Given the description of an element on the screen output the (x, y) to click on. 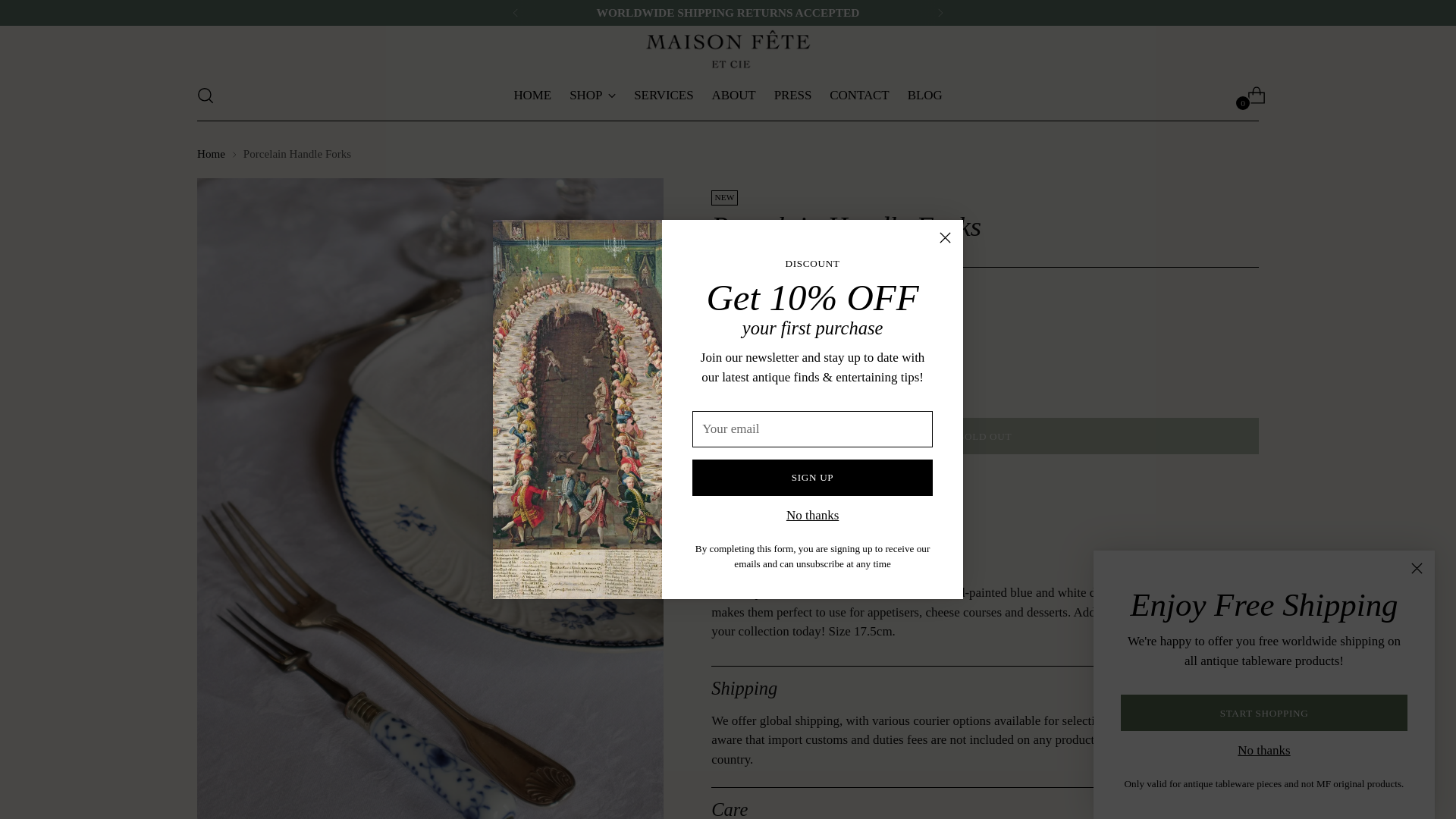
BLOG (727, 95)
HOME (924, 95)
1 (532, 95)
PRESS (748, 380)
0 (793, 95)
Next (1249, 95)
CONTACT (939, 12)
ABOUT (858, 95)
SERVICES (733, 95)
Previous (663, 95)
SHOP (515, 12)
